Given the description of an element on the screen output the (x, y) to click on. 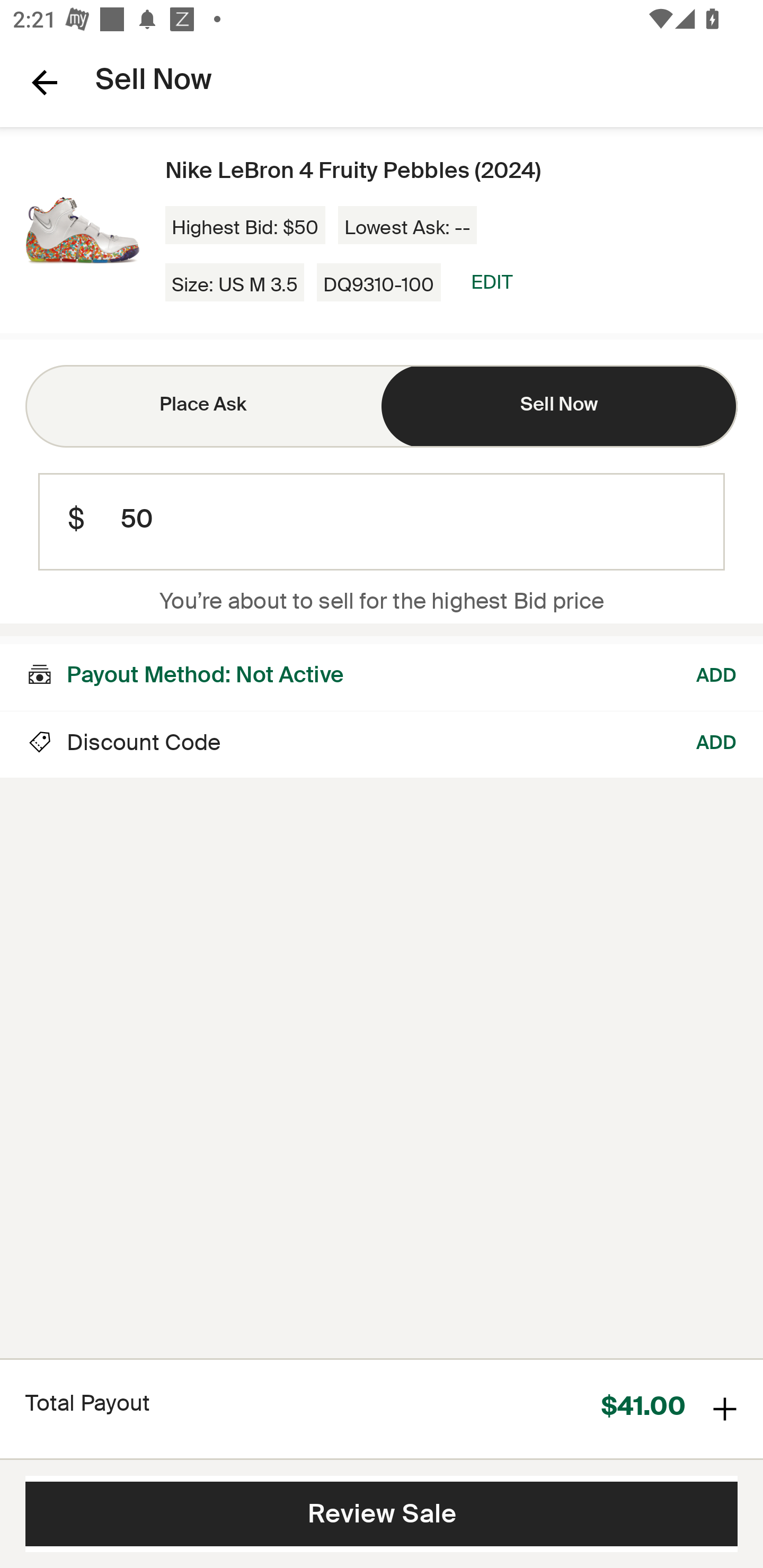
EDIT (491, 281)
Place Ask (203, 405)
Sell Now (559, 405)
50 $ (381, 521)
ADD (717, 673)
Discount icon Discount Code (123, 744)
ADD (717, 744)
Total Payout $41.00 Total Payout plus icon (381, 1407)
reviewButtonContentDescriptionID Review Sale (381, 1513)
